Given the description of an element on the screen output the (x, y) to click on. 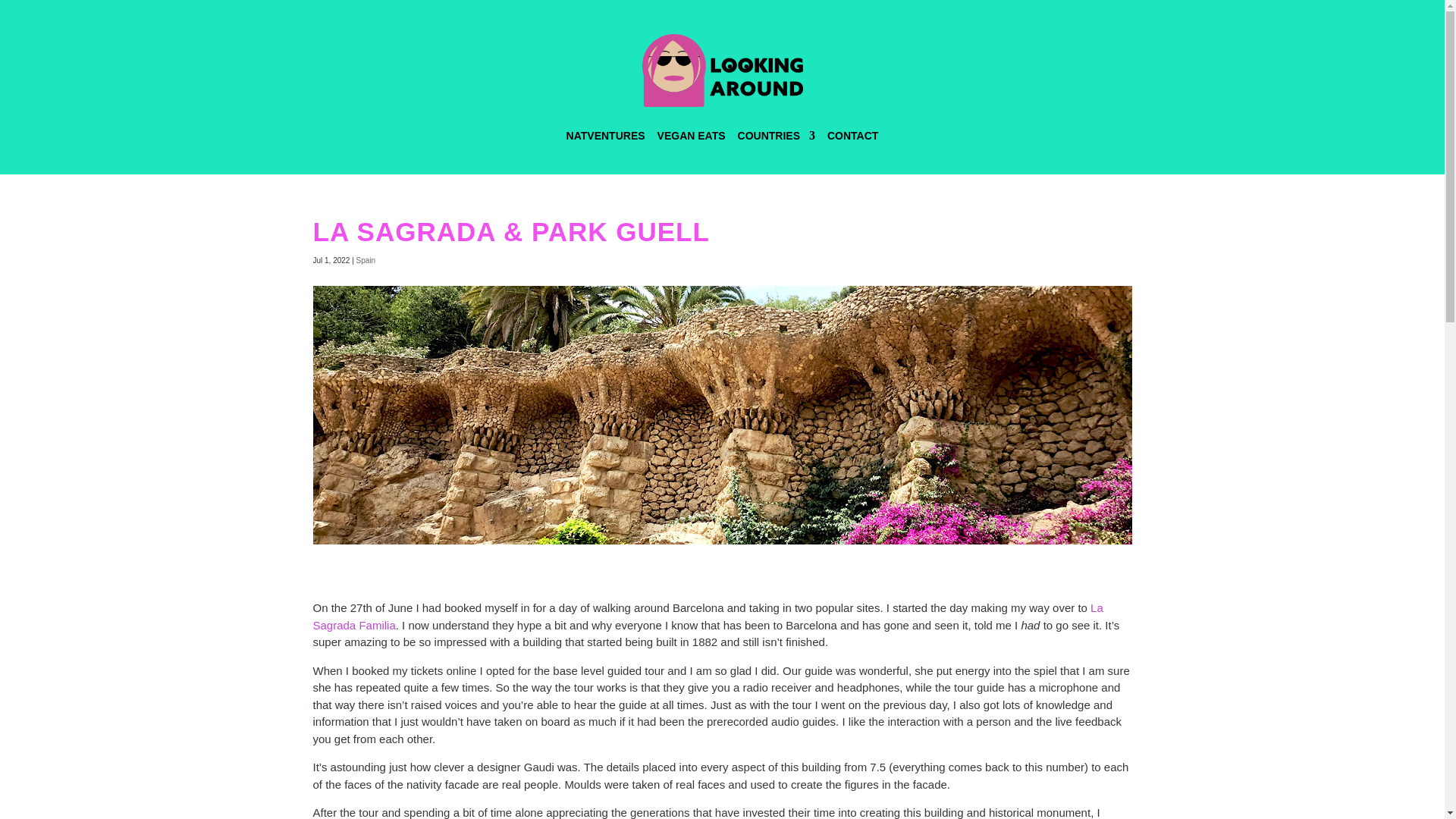
VEGAN EATS (691, 135)
Spain (365, 260)
NATVENTURES (605, 135)
La Sagrada Familia (707, 616)
COUNTRIES (776, 135)
